Given the description of an element on the screen output the (x, y) to click on. 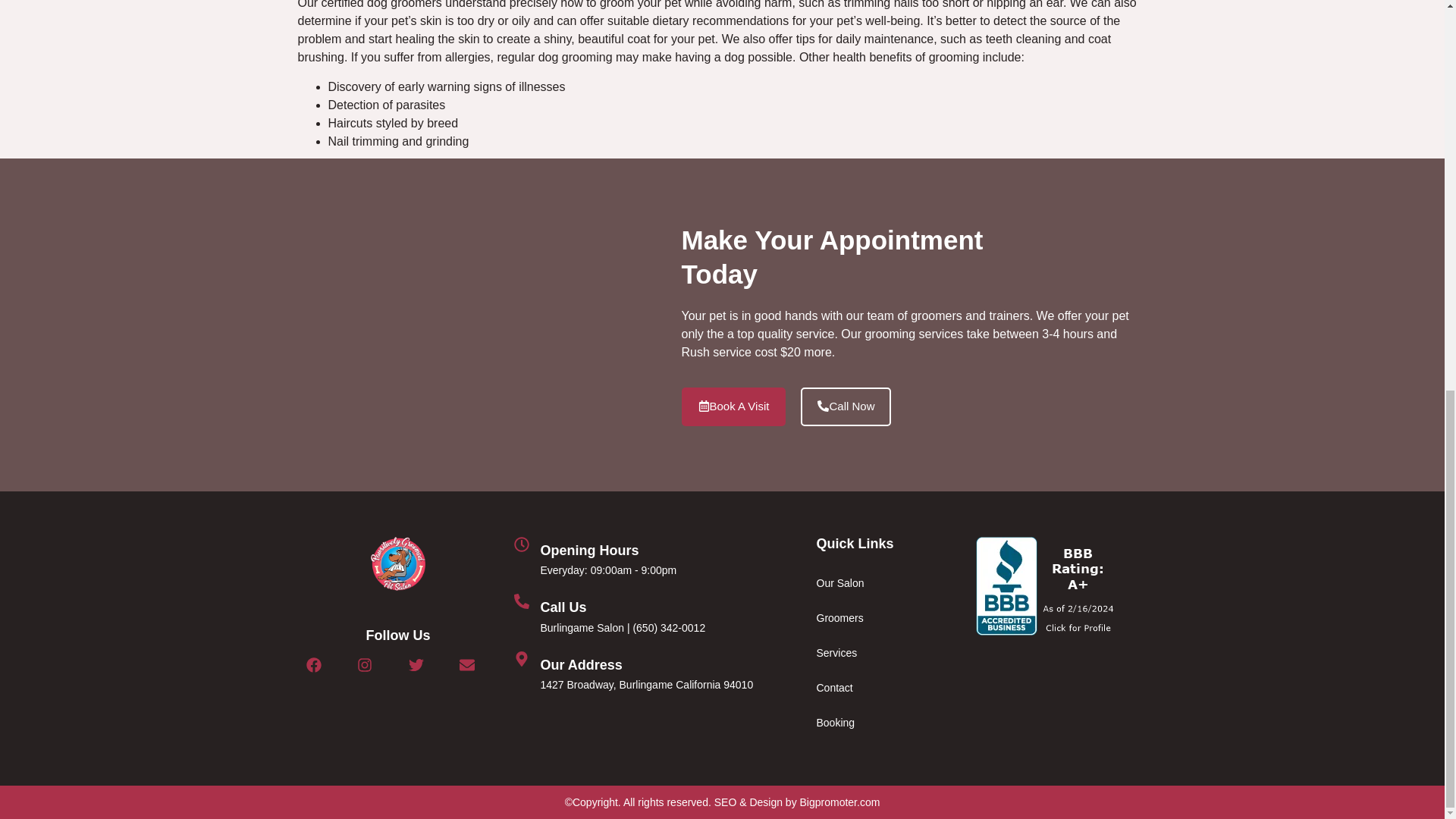
Services (872, 652)
Groomers (872, 617)
Our Salon (872, 582)
Call Now (845, 406)
Booking (872, 722)
Contact (872, 687)
Book A Visit (733, 406)
